Given the description of an element on the screen output the (x, y) to click on. 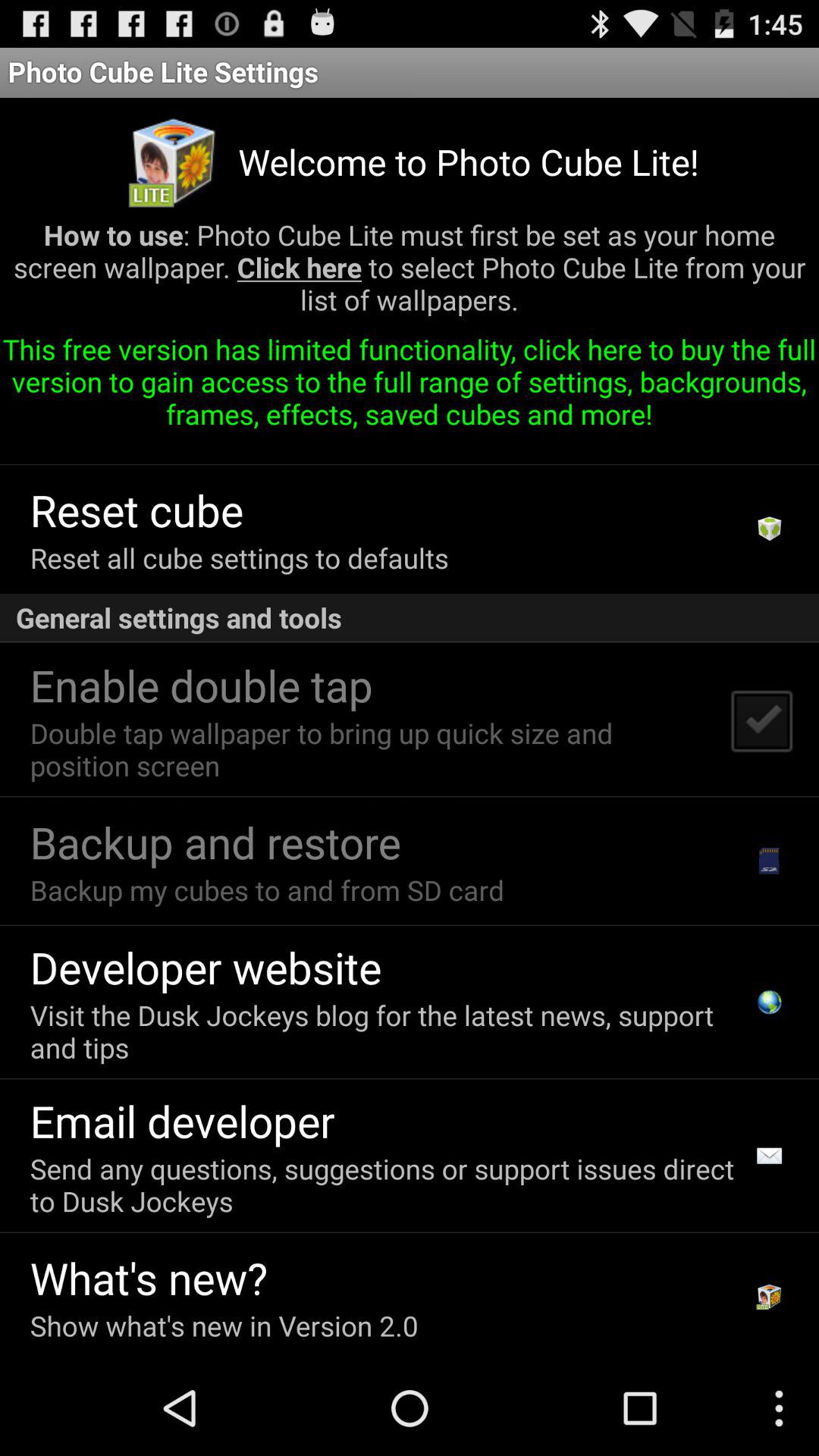
open the app to the right of double tap wallpaper (761, 719)
